Given the description of an element on the screen output the (x, y) to click on. 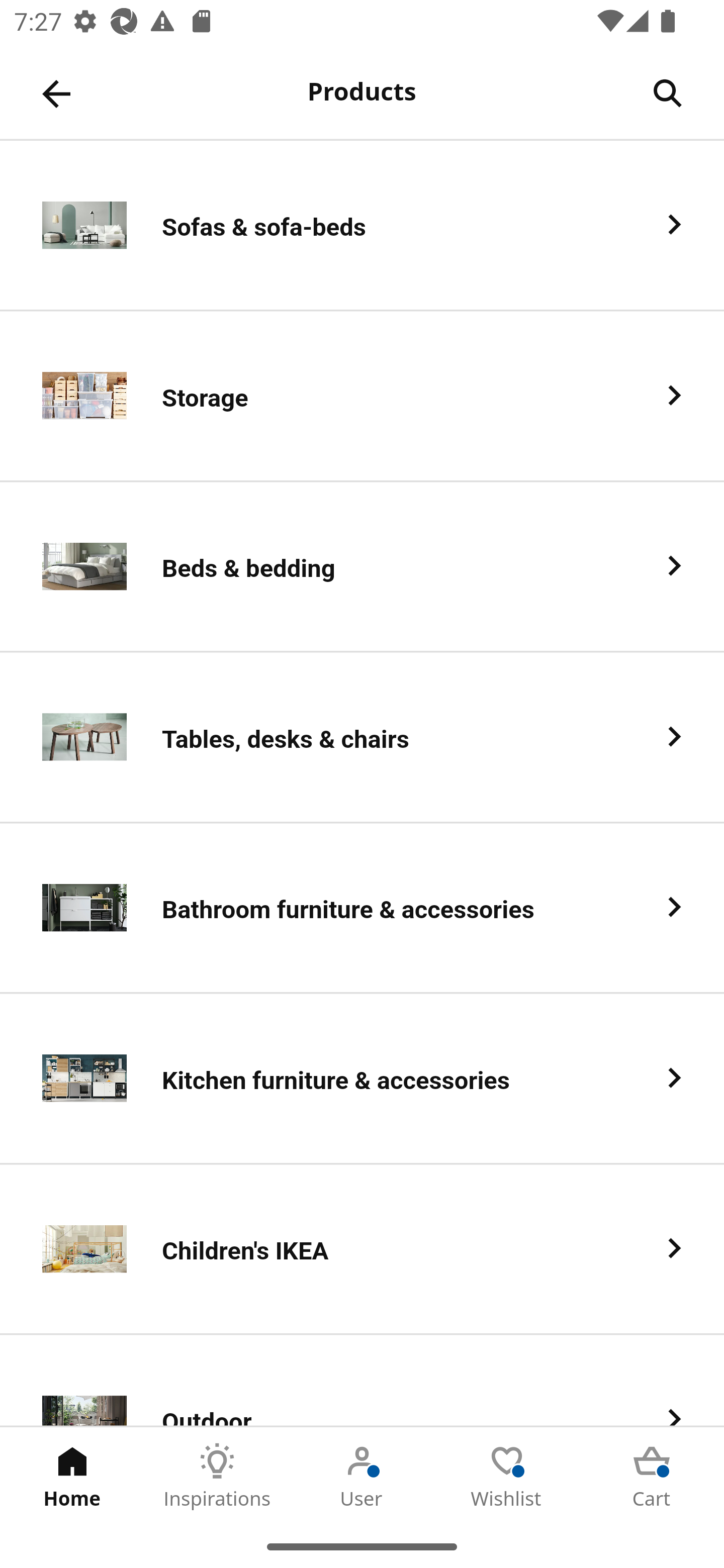
Sofas & sofa-beds (362, 226)
Storage (362, 396)
Beds & bedding (362, 566)
Tables, desks & chairs (362, 737)
Bathroom furniture & accessories (362, 908)
Kitchen furniture & accessories (362, 1079)
Children's IKEA (362, 1250)
Home
Tab 1 of 5 (72, 1476)
Inspirations
Tab 2 of 5 (216, 1476)
User
Tab 3 of 5 (361, 1476)
Wishlist
Tab 4 of 5 (506, 1476)
Cart
Tab 5 of 5 (651, 1476)
